Given the description of an element on the screen output the (x, y) to click on. 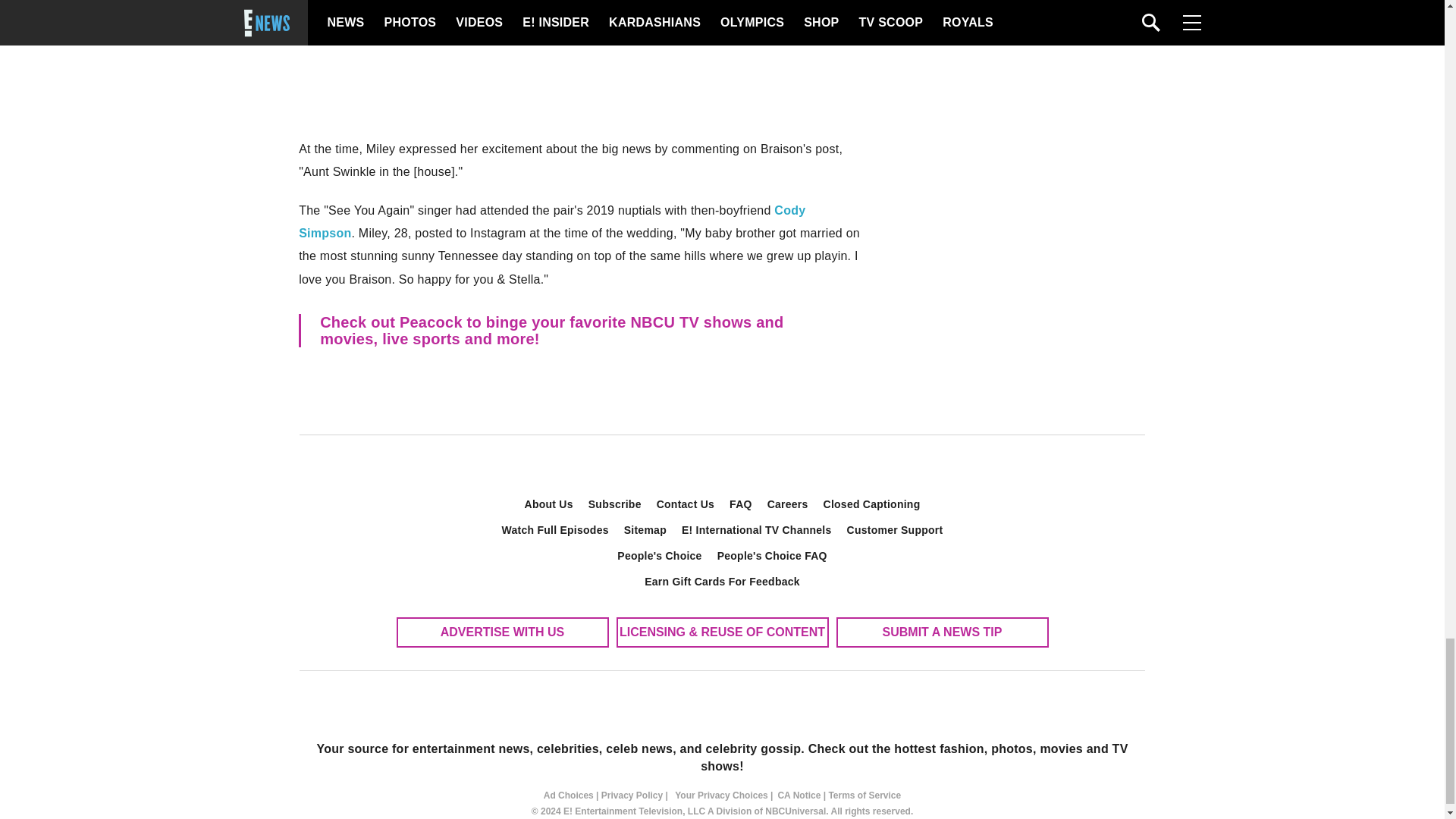
Cody Simpson (551, 221)
